Given the description of an element on the screen output the (x, y) to click on. 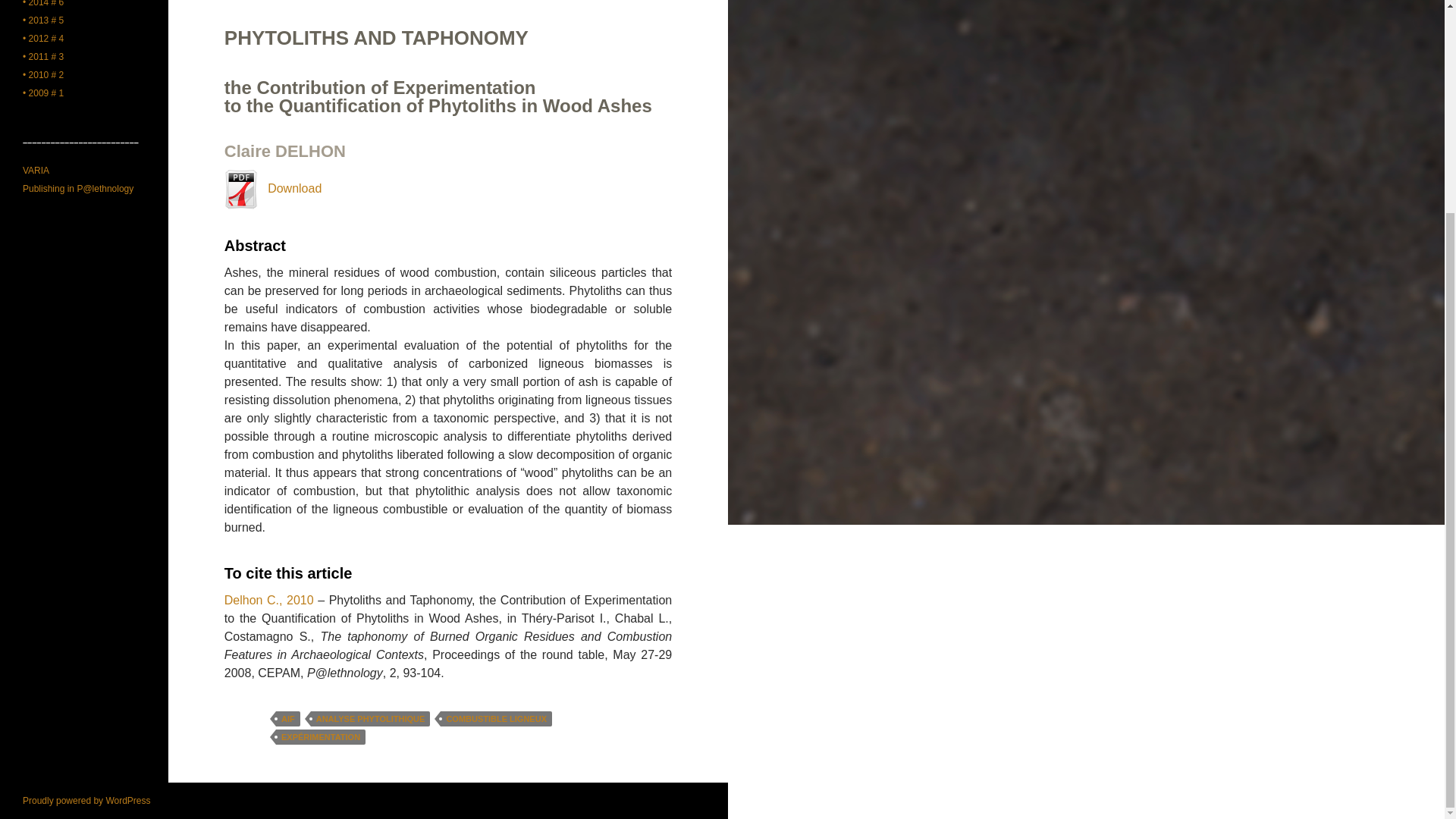
COMBUSTIBLE LIGNEUX (496, 718)
ANALYSE PHYTOLITHIQUE (370, 718)
VARIA (36, 170)
AIF (287, 718)
   Download (272, 187)
Proudly powered by WordPress (87, 800)
